Given the description of an element on the screen output the (x, y) to click on. 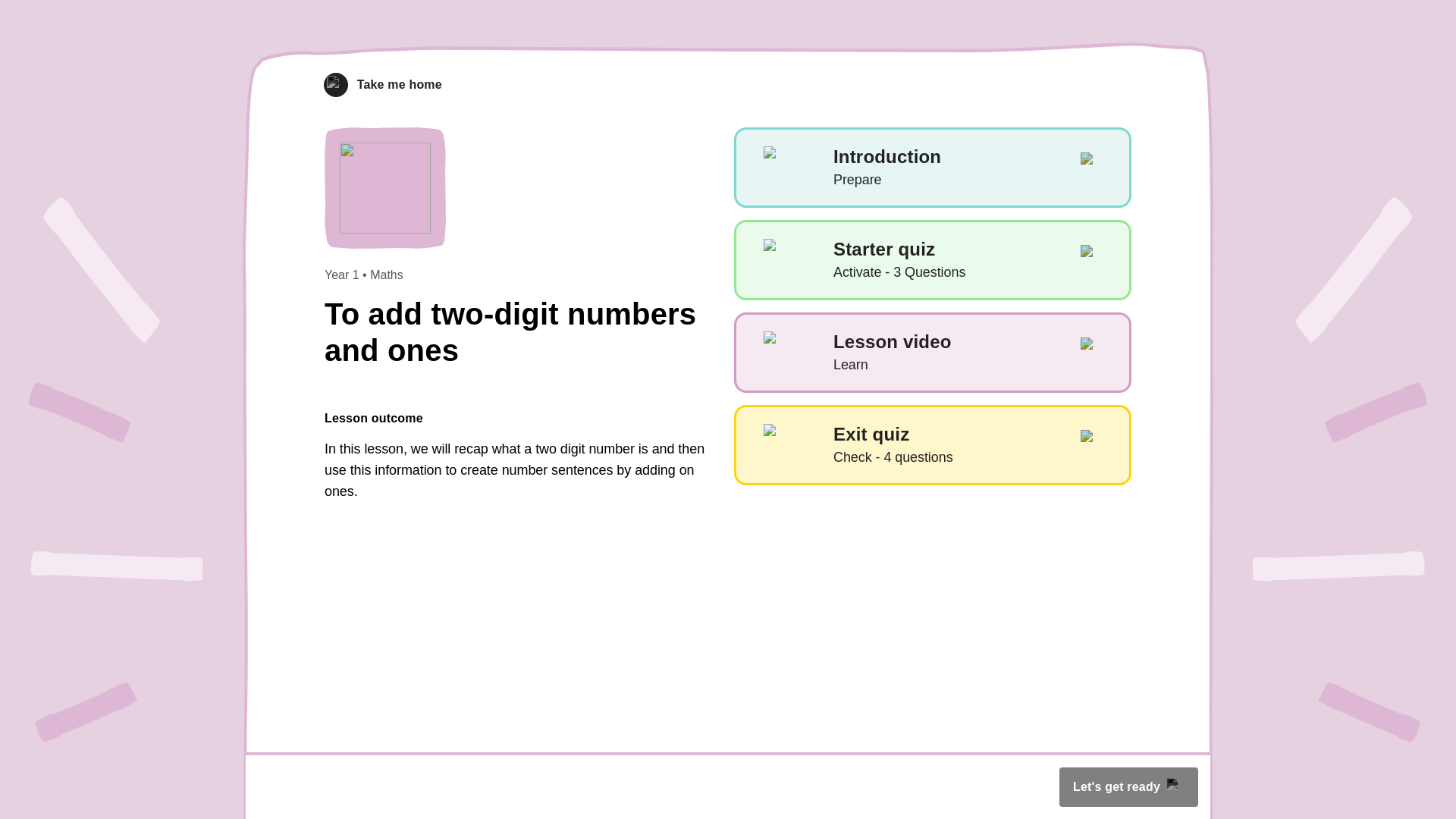
Let's get ready (1128, 786)
Take me home (382, 84)
